Given the description of an element on the screen output the (x, y) to click on. 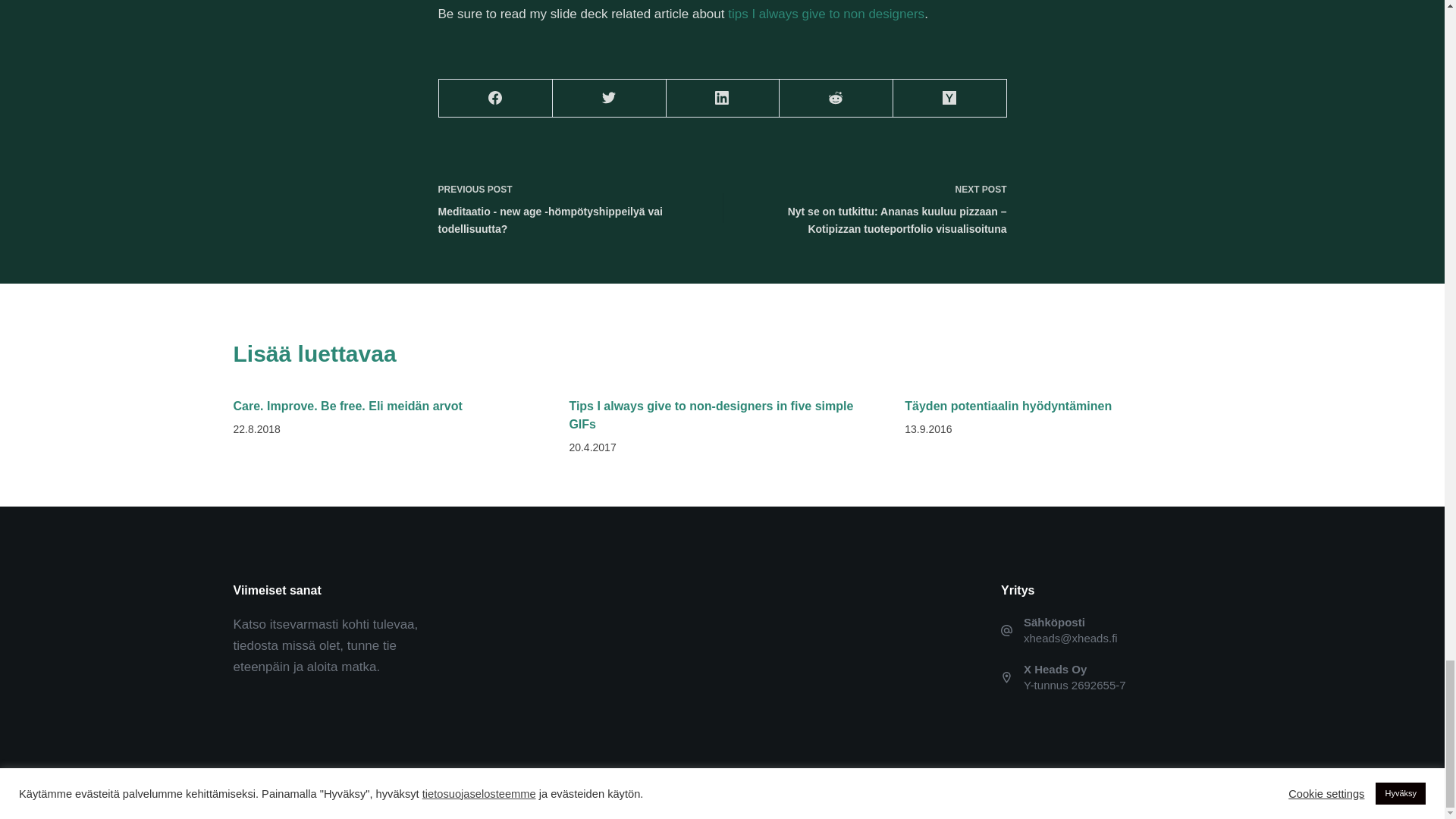
tips I always give to non designers (826, 13)
Tips I always give to non-designers in five simple GIFs (711, 414)
BLOGI (346, 793)
